Given the description of an element on the screen output the (x, y) to click on. 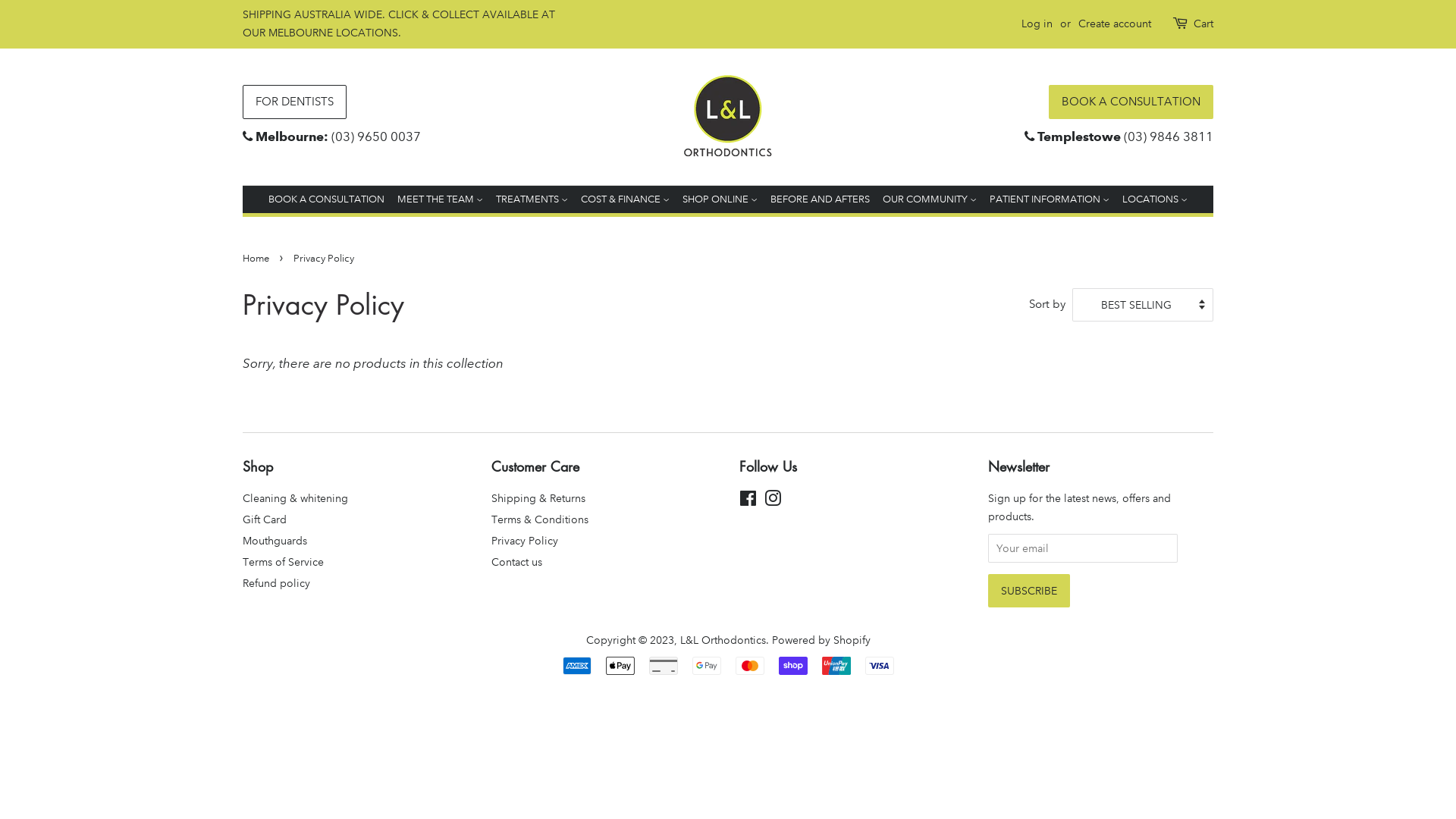
Facebook Element type: text (747, 501)
Gift Card Element type: text (264, 519)
Home Element type: text (257, 258)
LOCATIONS Element type: text (1152, 199)
SHOP ONLINE Element type: text (719, 199)
Create account Element type: text (1114, 23)
OUR COMMUNITY Element type: text (929, 199)
Melbourne: Element type: text (291, 136)
Refund policy Element type: text (276, 582)
Mouthguards Element type: text (274, 540)
TREATMENTS Element type: text (531, 199)
(03) 9650 0037 Element type: text (375, 136)
Log in Element type: text (1036, 23)
PATIENT INFORMATION Element type: text (1049, 199)
Powered by Shopify Element type: text (820, 639)
L&L Orthodontics Element type: text (722, 639)
Cart Element type: text (1203, 24)
Privacy Policy Element type: text (524, 540)
BOOK A CONSULTATION Element type: text (328, 199)
(03) 9846 3811 Element type: text (1168, 136)
Instagram Element type: text (772, 501)
Shipping & Returns Element type: text (538, 498)
FOR DENTISTS Element type: text (294, 101)
Contact us Element type: text (516, 561)
BOOK A CONSULTATION Element type: text (1130, 101)
Subscribe Element type: text (1028, 590)
Cleaning & whitening Element type: text (295, 498)
BEFORE AND AFTERS Element type: text (820, 199)
MEET THE TEAM Element type: text (440, 199)
Terms of Service Element type: text (282, 561)
Templestowe Element type: text (1078, 136)
COST & FINANCE Element type: text (624, 199)
Terms & Conditions Element type: text (539, 519)
